Given the description of an element on the screen output the (x, y) to click on. 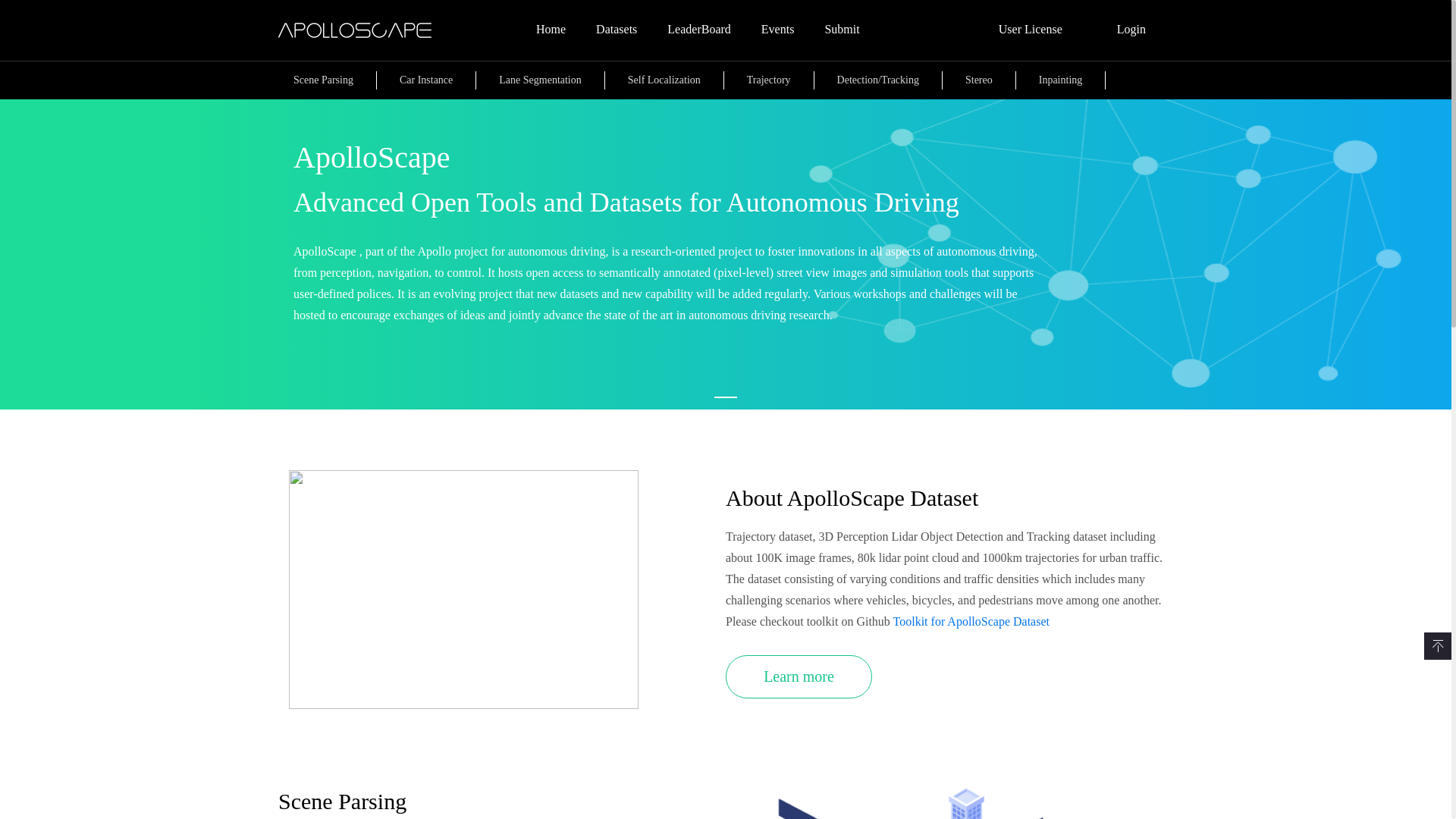
Toolkit for ApolloScape Dataset Element type: text (971, 621)
Detection/Tracking Element type: text (877, 80)
Stereo Element type: text (978, 80)
Lane Segmentation Element type: text (539, 80)
Home Element type: text (550, 29)
Self Localization Element type: text (664, 80)
Trajectory Element type: text (768, 80)
Learn more Element type: text (798, 676)
Events Element type: text (777, 29)
Datasets Element type: text (616, 29)
Car Instance Element type: text (425, 80)
Submit Element type: text (841, 29)
LeaderBoard Element type: text (699, 29)
Inpainting Element type: text (1060, 80)
Scene Parsing Element type: text (323, 80)
